Given the description of an element on the screen output the (x, y) to click on. 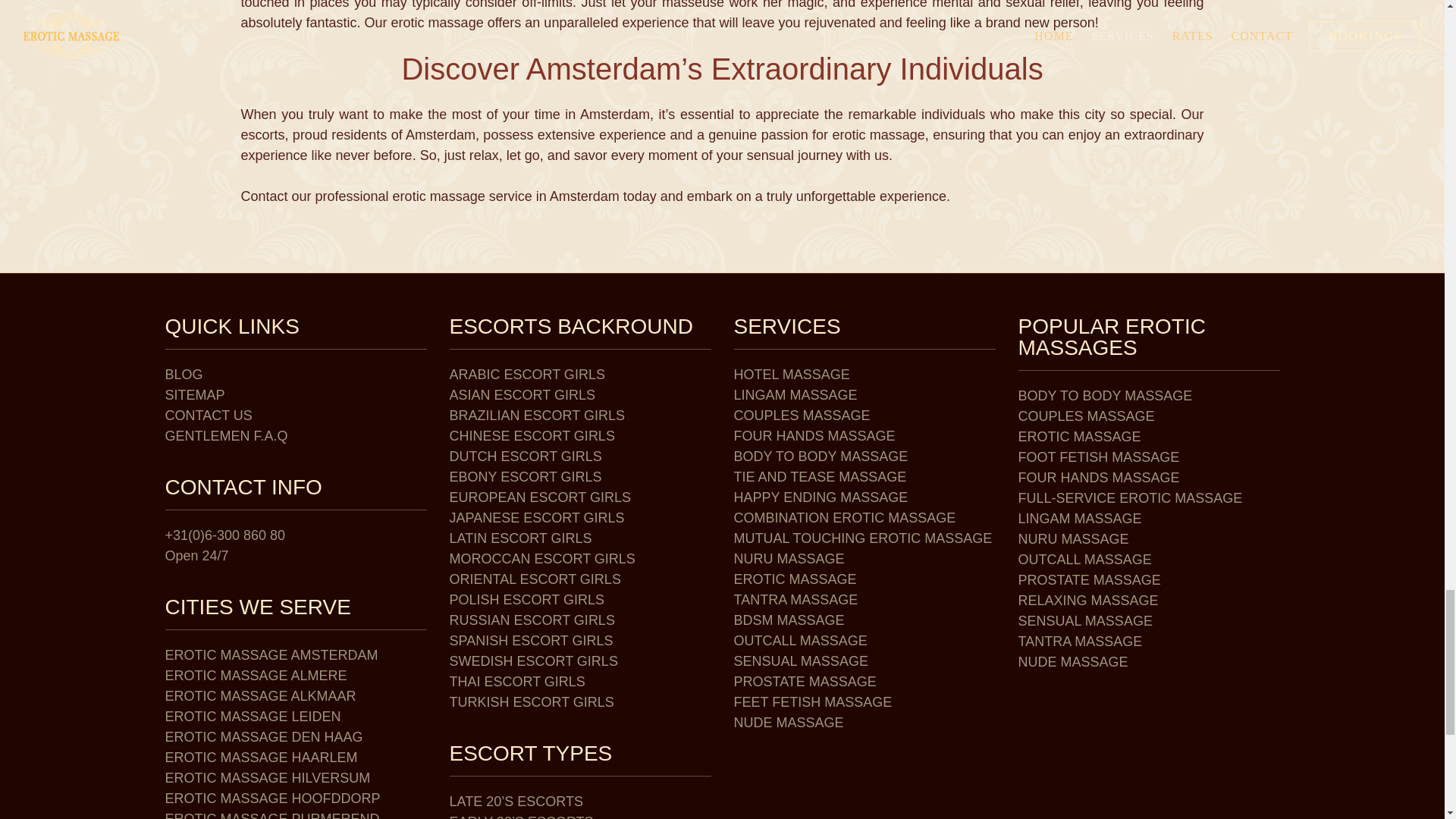
EROTIC MASSAGE LEIDEN (252, 716)
EROTIC MASSAGE ALMERE (256, 675)
BLOG (184, 374)
EROTIC MASSAGE DEN HAAG (263, 736)
CONTACT US (208, 415)
EROTIC MASSAGE AMSTERDAM (271, 654)
GENTLEMEN F.A.Q (226, 435)
EROTIC MASSAGE ALKMAAR (260, 695)
SITEMAP (195, 394)
